Given the description of an element on the screen output the (x, y) to click on. 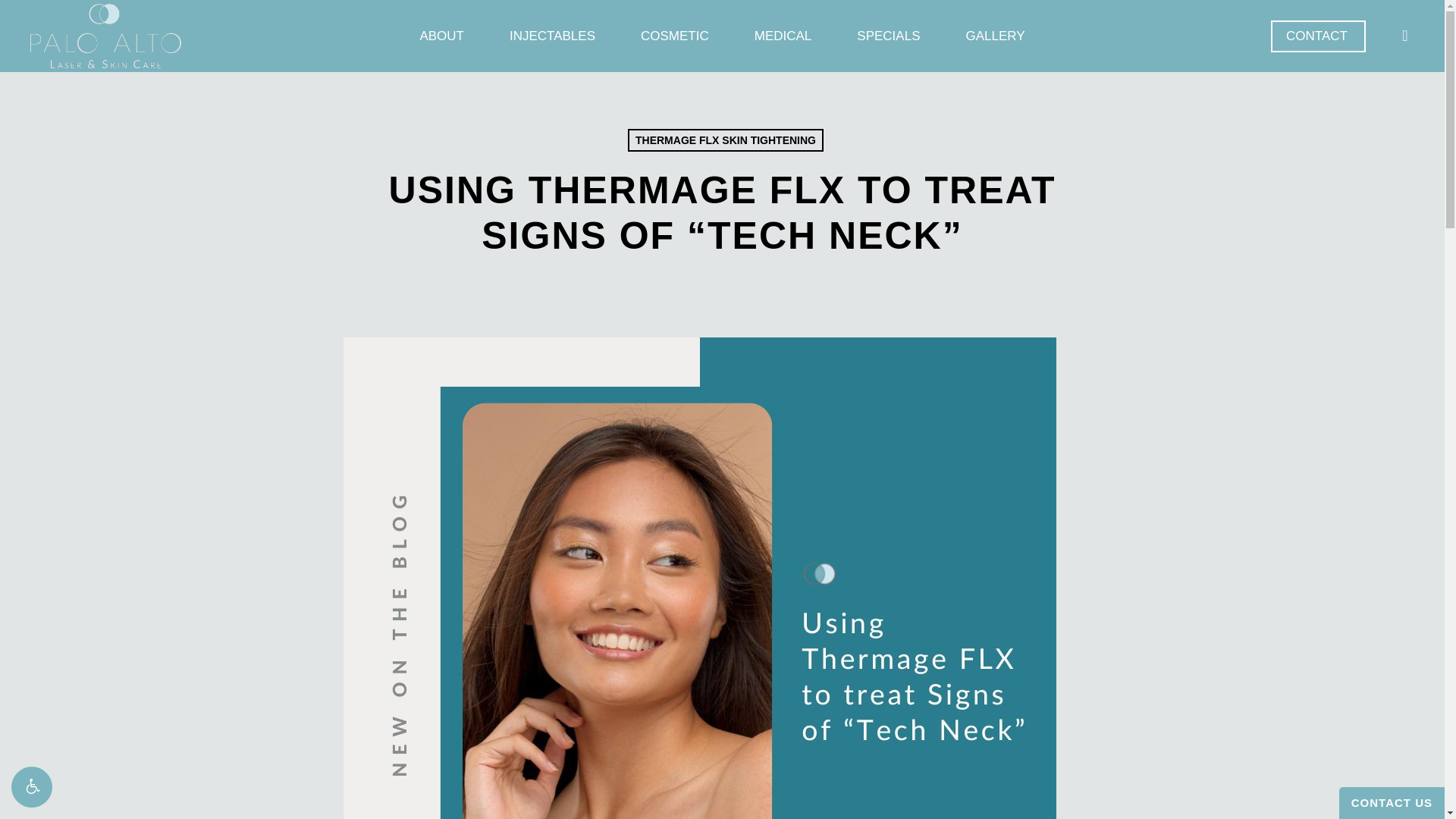
INJECTABLES (551, 35)
ABOUT (441, 35)
COSMETIC (674, 35)
